Given the description of an element on the screen output the (x, y) to click on. 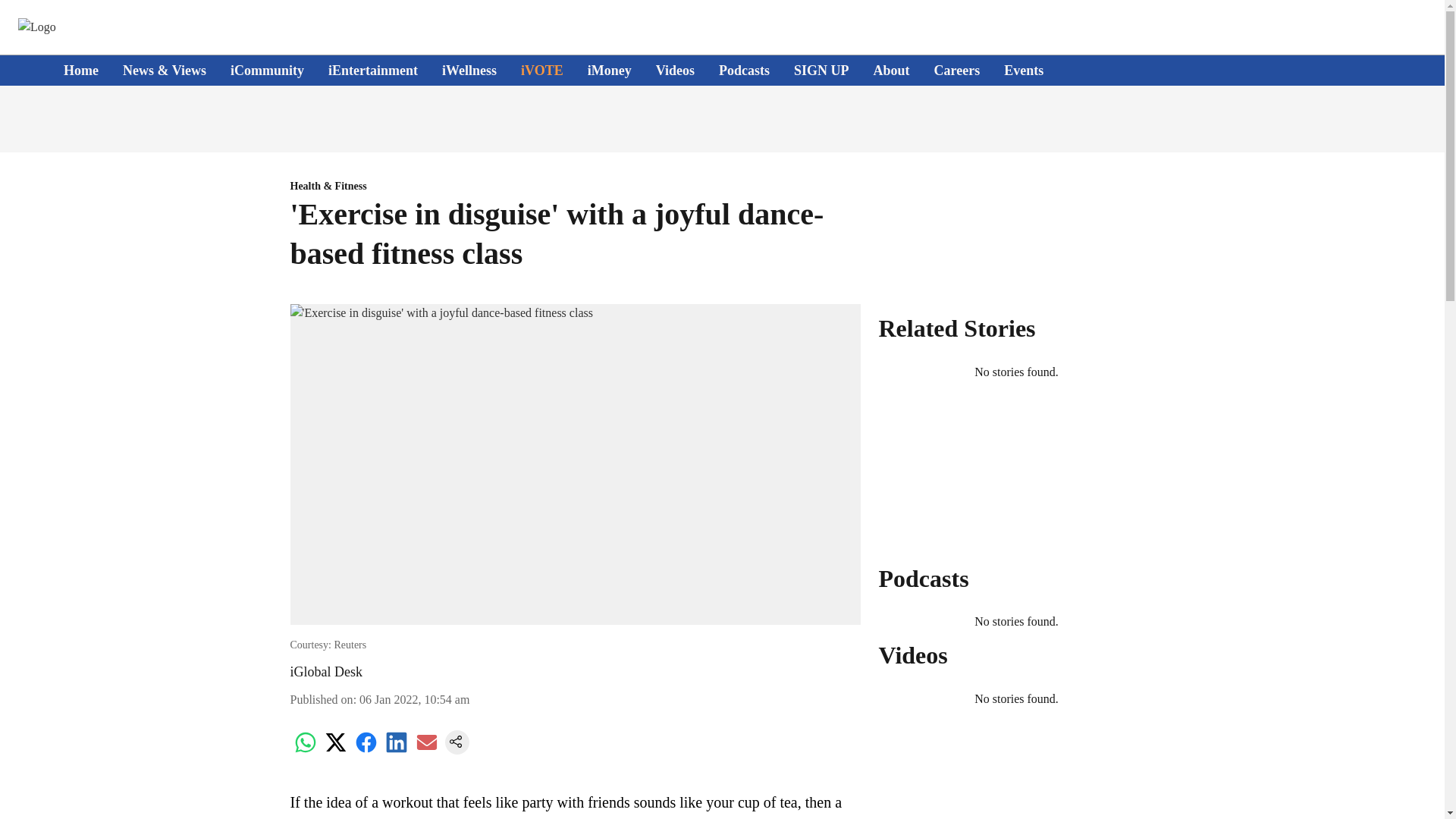
SIGN UP (820, 70)
iWellness (469, 70)
Careers (956, 70)
Podcasts (744, 70)
iCommunity (267, 70)
2022-01-06 10:54 (413, 698)
iEntertainment (373, 70)
Home (81, 70)
About (891, 70)
Videos (675, 70)
